Given the description of an element on the screen output the (x, y) to click on. 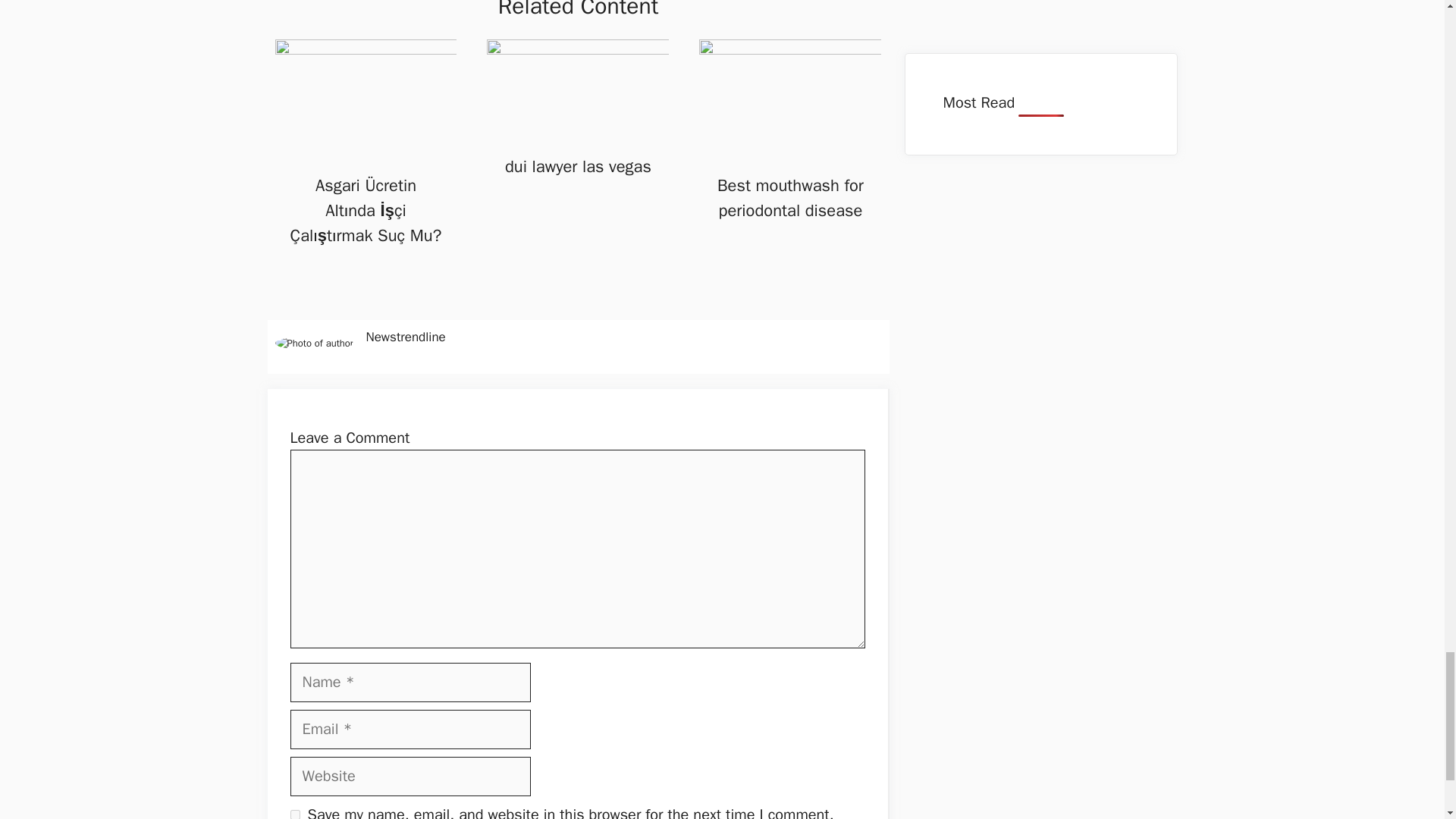
dui lawyer las vegas (577, 166)
Newstrendline (405, 336)
yes (294, 814)
Best mouthwash for periodontal disease (790, 198)
